Given the description of an element on the screen output the (x, y) to click on. 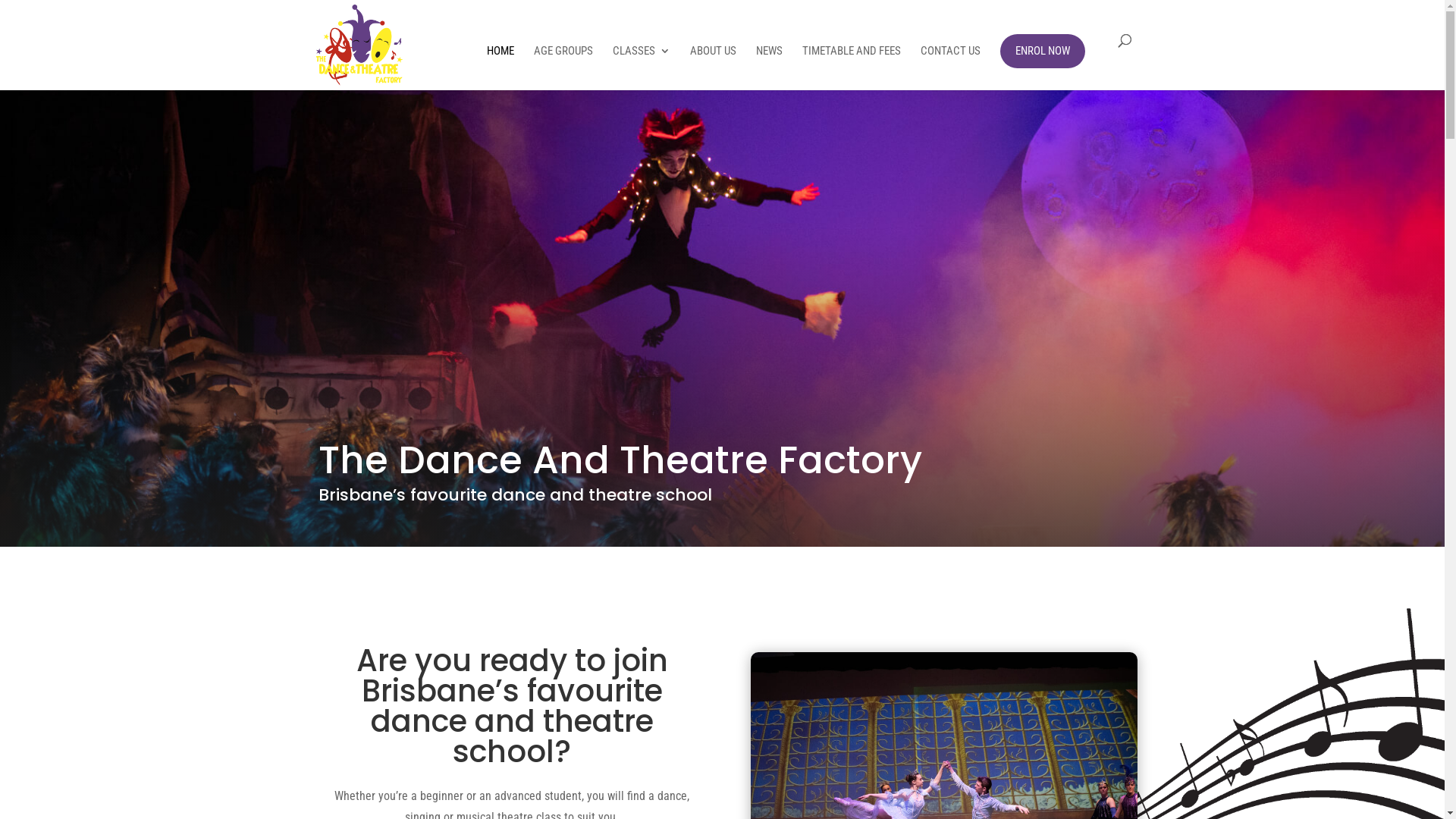
AGE GROUPS Element type: text (563, 67)
CONTACT US Element type: text (950, 67)
TIMETABLE AND FEES Element type: text (851, 67)
NEWS Element type: text (768, 67)
ENROL NOW Element type: text (1041, 51)
CLASSES Element type: text (641, 67)
ABOUT US Element type: text (713, 67)
HOME Element type: text (500, 67)
